Given the description of an element on the screen output the (x, y) to click on. 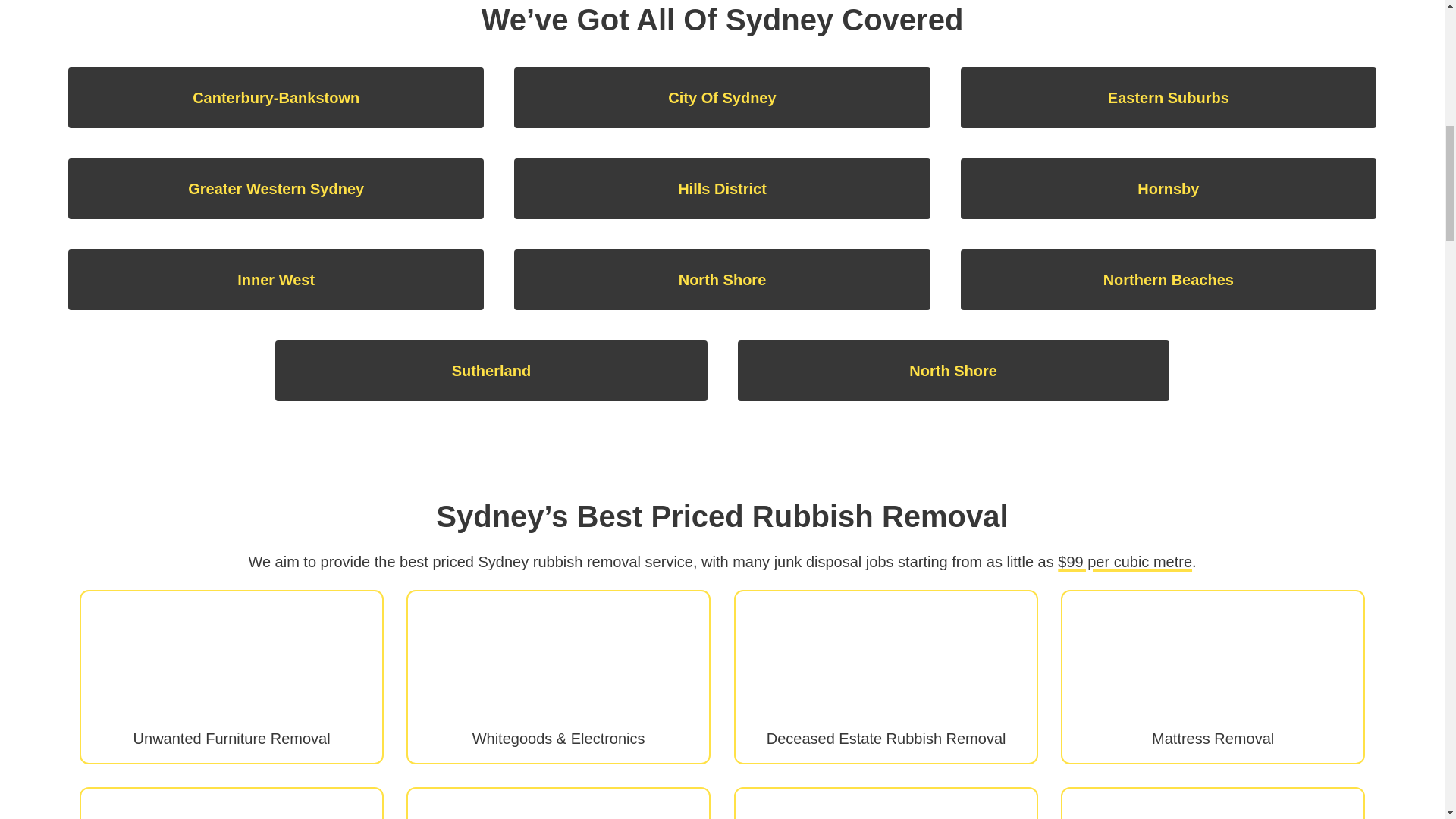
Rubbish and Junk Removal Hills District (721, 188)
Rubbish and Junk Removal Canterbury-Bankstown (275, 97)
Rubbish and Junk Removal North Shore (952, 370)
Rubbish and Junk Removal Eastern Suburbs (1167, 97)
Rubbish and Junk Removal Sutherland Shire (490, 370)
Rubbish and Junk Removal Northern Beaches (1167, 279)
Rubbish and Junk Removal Hornsby Shire (1167, 188)
Rubbish and Junk Removal Greater Western Sydney (275, 188)
Rubbish and Junk Removal North Shore (721, 279)
Rubbish and Junk Removal City of Sydney (721, 97)
Rubbish and Junk Removal Inner West (275, 279)
